Given the description of an element on the screen output the (x, y) to click on. 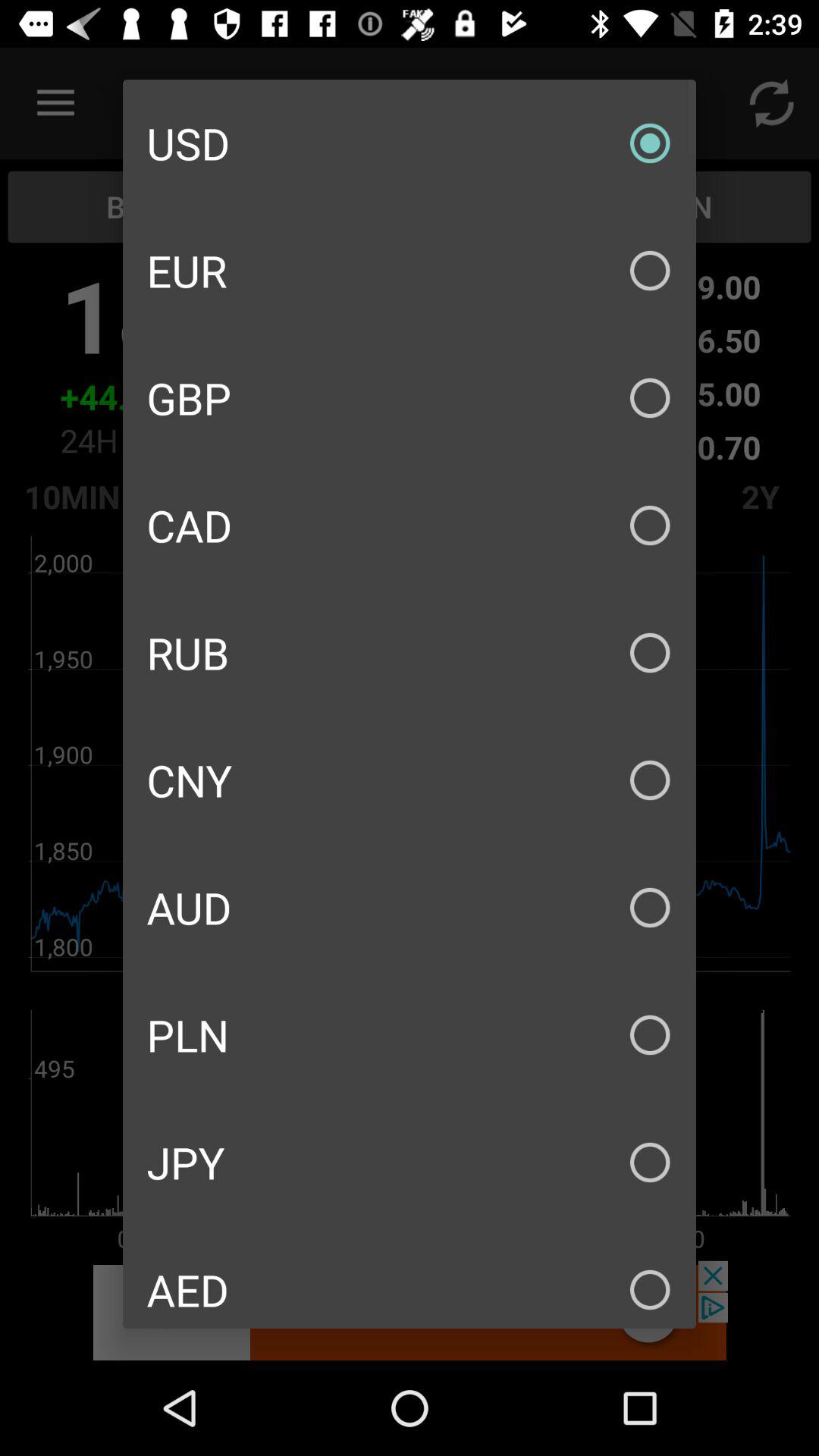
turn on the cad icon (409, 525)
